Given the description of an element on the screen output the (x, y) to click on. 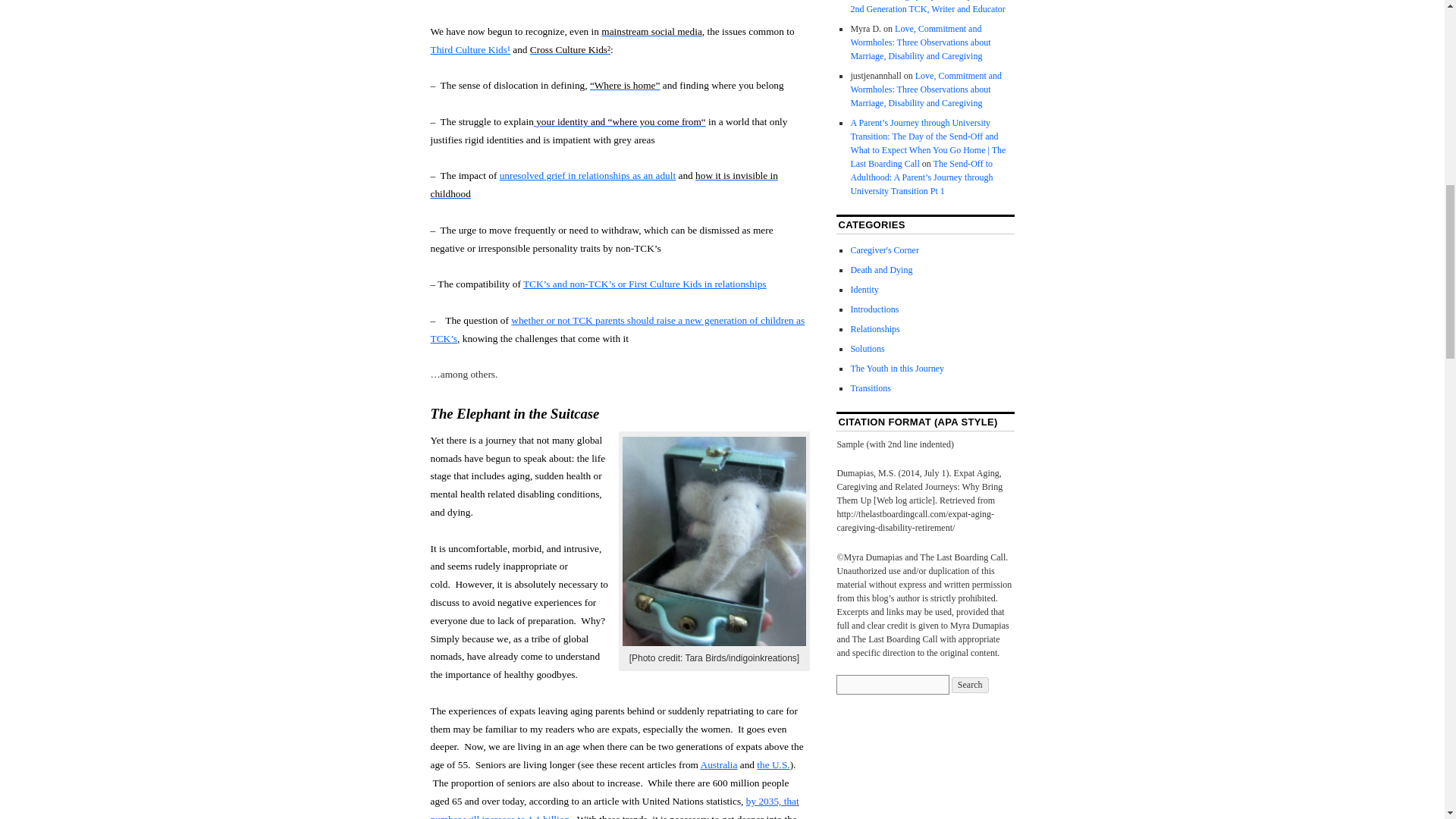
by 2035, that number will increase to 1.1 billion (614, 807)
how it is invisible in childhood (603, 184)
Search (970, 684)
unresolved grief in relationships as an adult (587, 174)
mainstream social media (651, 30)
Australia (719, 764)
the U.S. (773, 764)
